Given the description of an element on the screen output the (x, y) to click on. 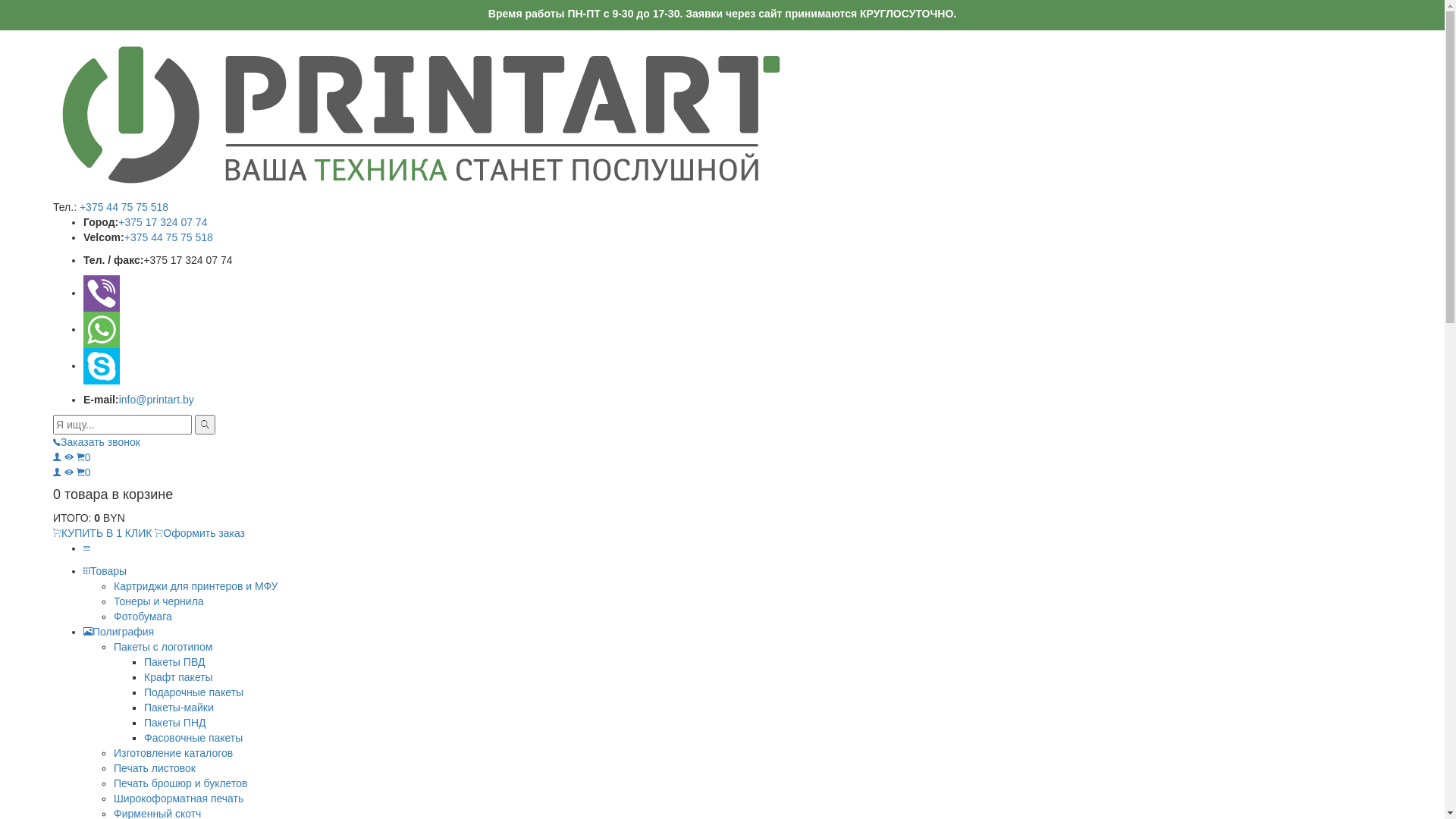
info@printart.by Element type: text (156, 399)
PrintArt Element type: hover (421, 113)
PrintArt Element type: hover (421, 114)
0 Element type: text (83, 457)
+375 17 324 07 74 Element type: text (162, 222)
+375 44 75 75 518 Element type: text (123, 206)
0 Element type: text (83, 472)
+375 44 75 75 518 Element type: text (168, 237)
